Given the description of an element on the screen output the (x, y) to click on. 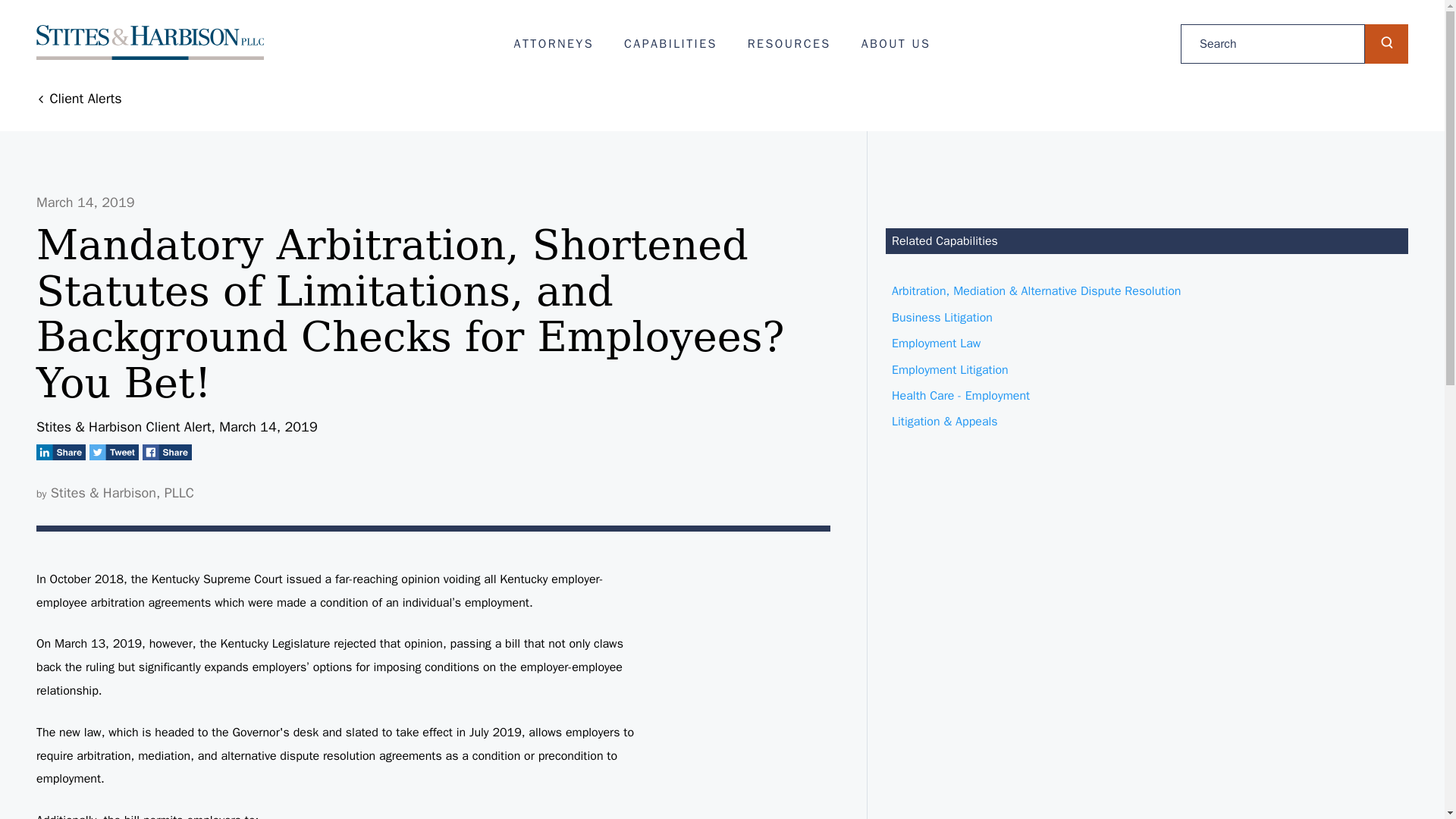
Health Care - Employment (1146, 395)
Client Alerts (79, 98)
RESOURCES (789, 43)
Employment Litigation (1146, 370)
Employment Law (1146, 343)
ATTORNEYS (553, 43)
ABOUT US (895, 43)
CAPABILITIES (670, 43)
Business Litigation (1146, 317)
